Given the description of an element on the screen output the (x, y) to click on. 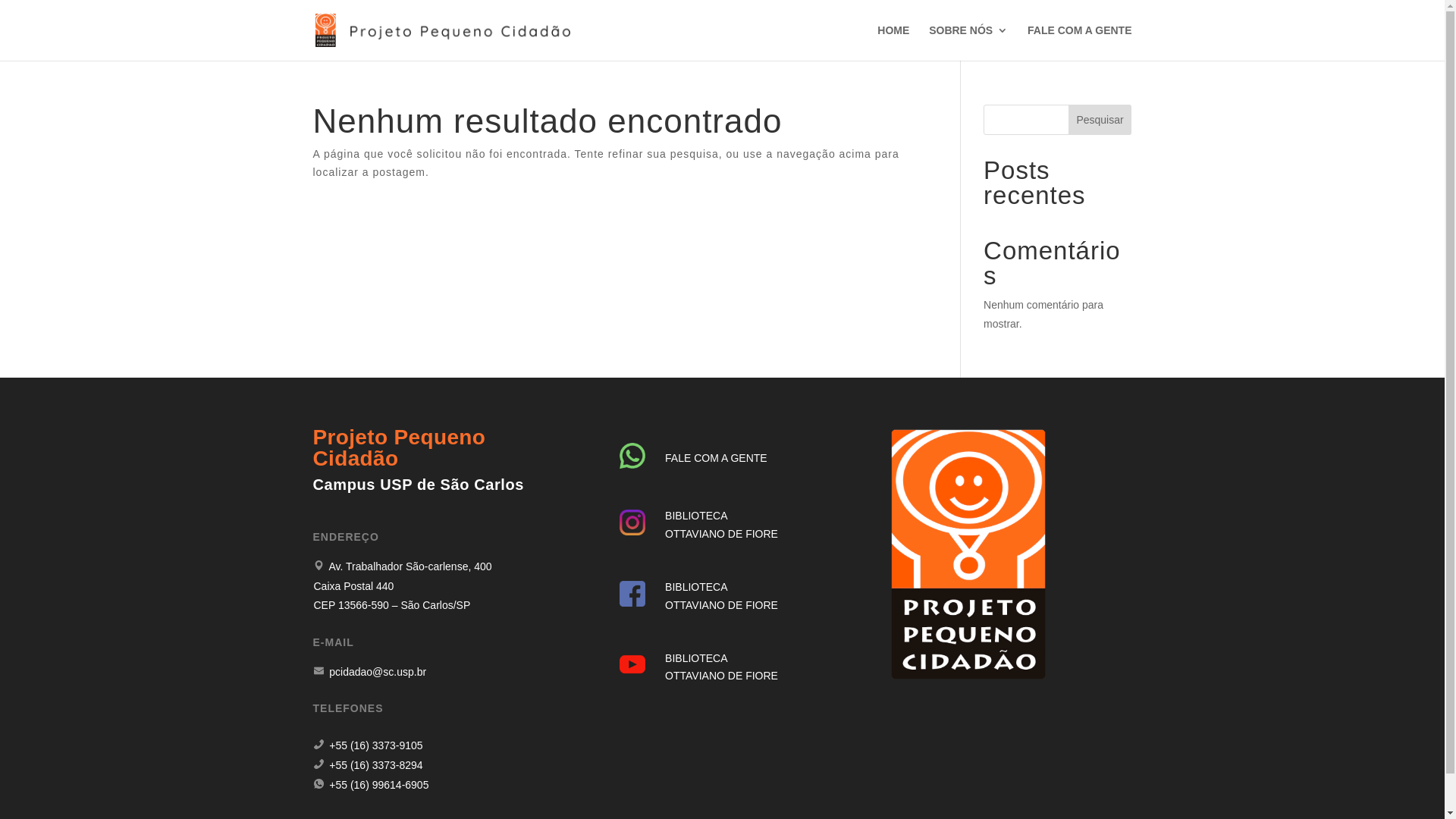
BIBLIOTECA
OTTAVIANO DE FIORE Element type: text (721, 524)
Pesquisar Element type: text (1100, 119)
HOME Element type: text (893, 42)
BIBLIOTECA
OTTAVIANO DE FIORE Element type: text (721, 667)
BIBLIOTECA
OTTAVIANO DE FIORE Element type: text (721, 595)
FALE COM A GENTE Element type: text (1079, 42)
FALE COM A GENTE Element type: text (716, 457)
